Given the description of an element on the screen output the (x, y) to click on. 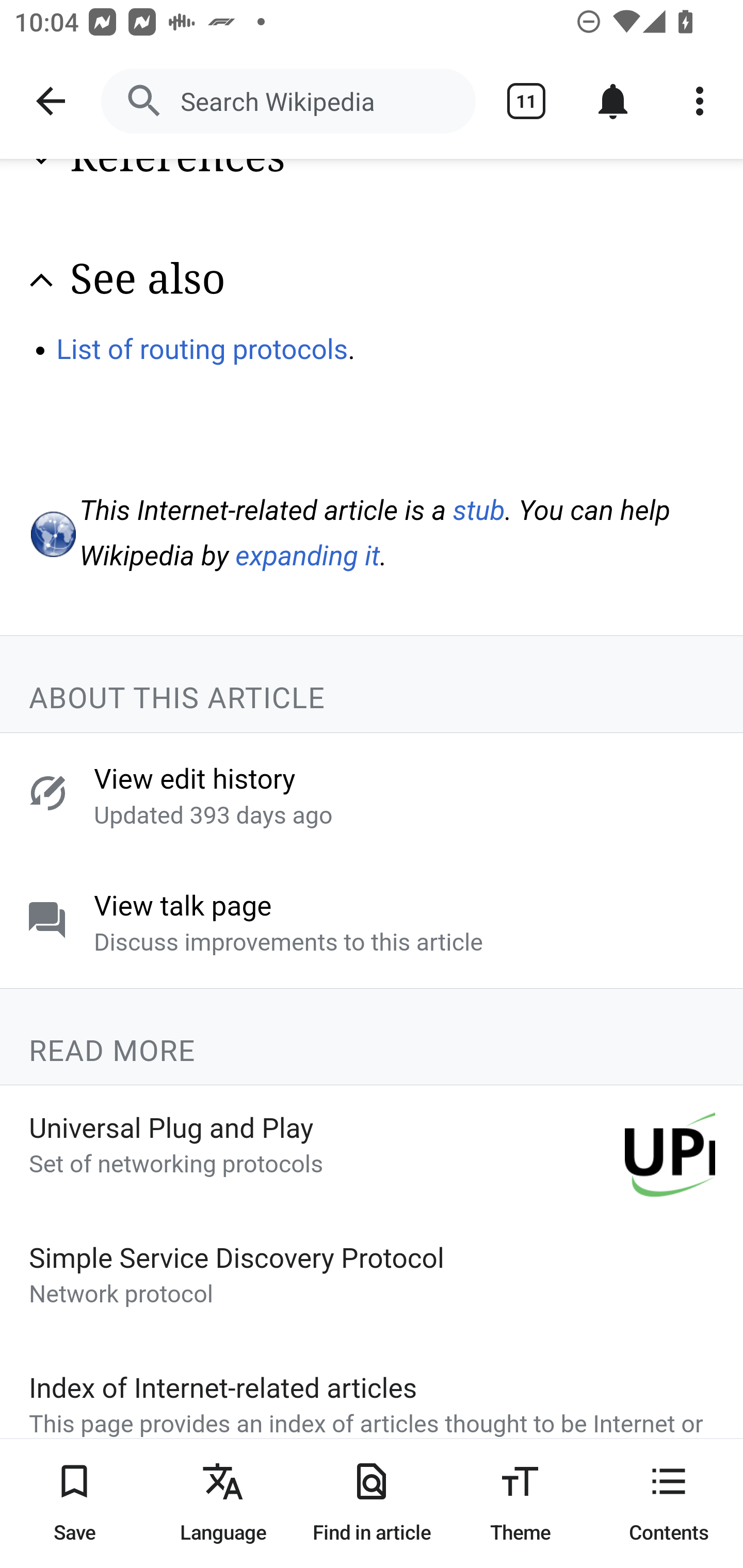
Show tabs 11 (525, 100)
Notifications (612, 100)
Navigate up (50, 101)
More options (699, 101)
Search Wikipedia (288, 100)
Collapse section See also (372, 281)
Collapse section (41, 280)
List of routing protocols (201, 350)
stub (478, 510)
Stub icon (51, 535)
expanding it (307, 556)
Save (74, 1502)
Language (222, 1502)
Find in article (371, 1502)
Theme (519, 1502)
Contents (668, 1502)
